Given the description of an element on the screen output the (x, y) to click on. 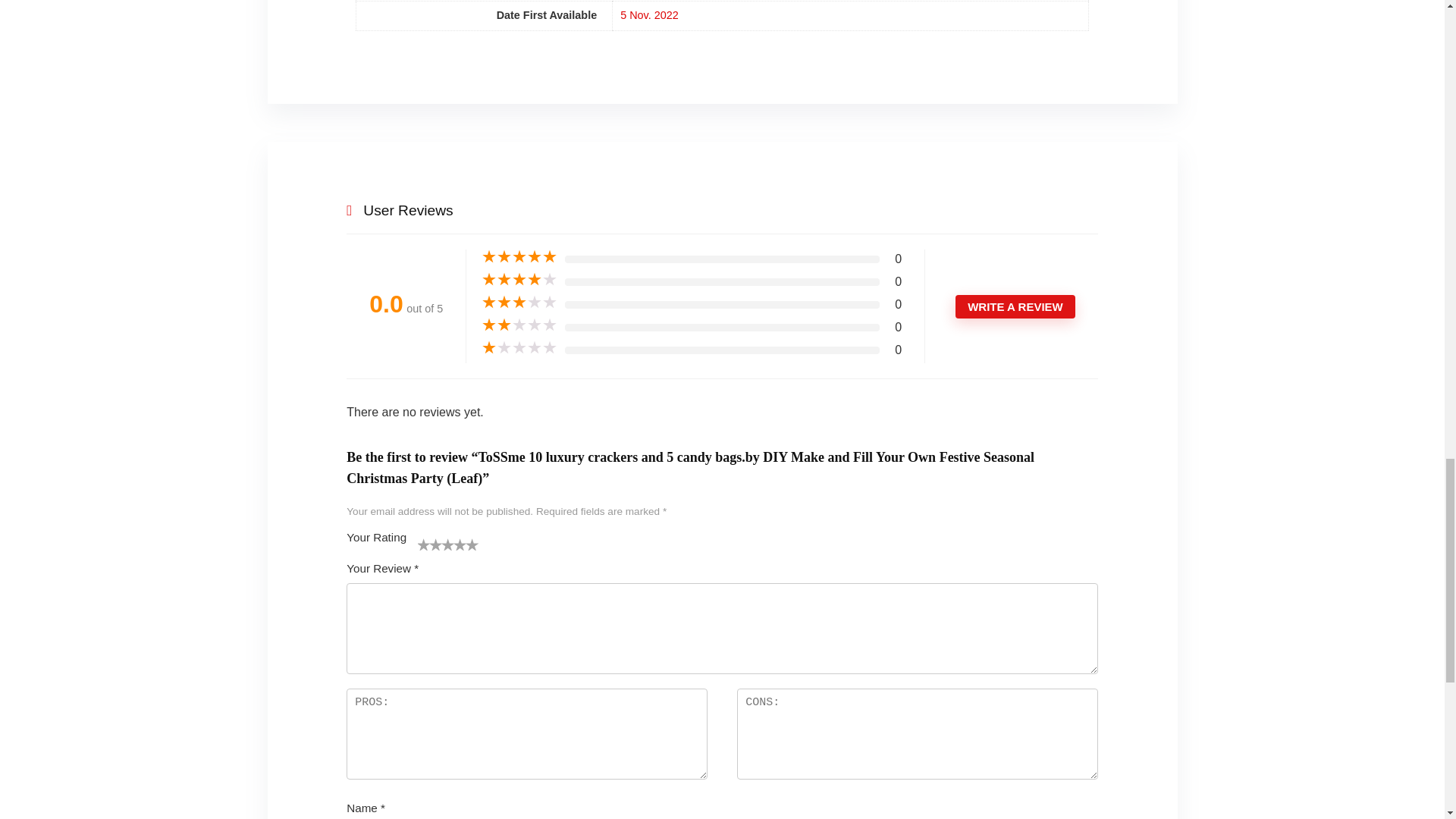
Rated 2 out of 5 (519, 324)
Rated 4 out of 5 (519, 279)
WRITE A REVIEW (1015, 306)
Rated 5 out of 5 (519, 256)
Rated 3 out of 5 (519, 302)
